Given the description of an element on the screen output the (x, y) to click on. 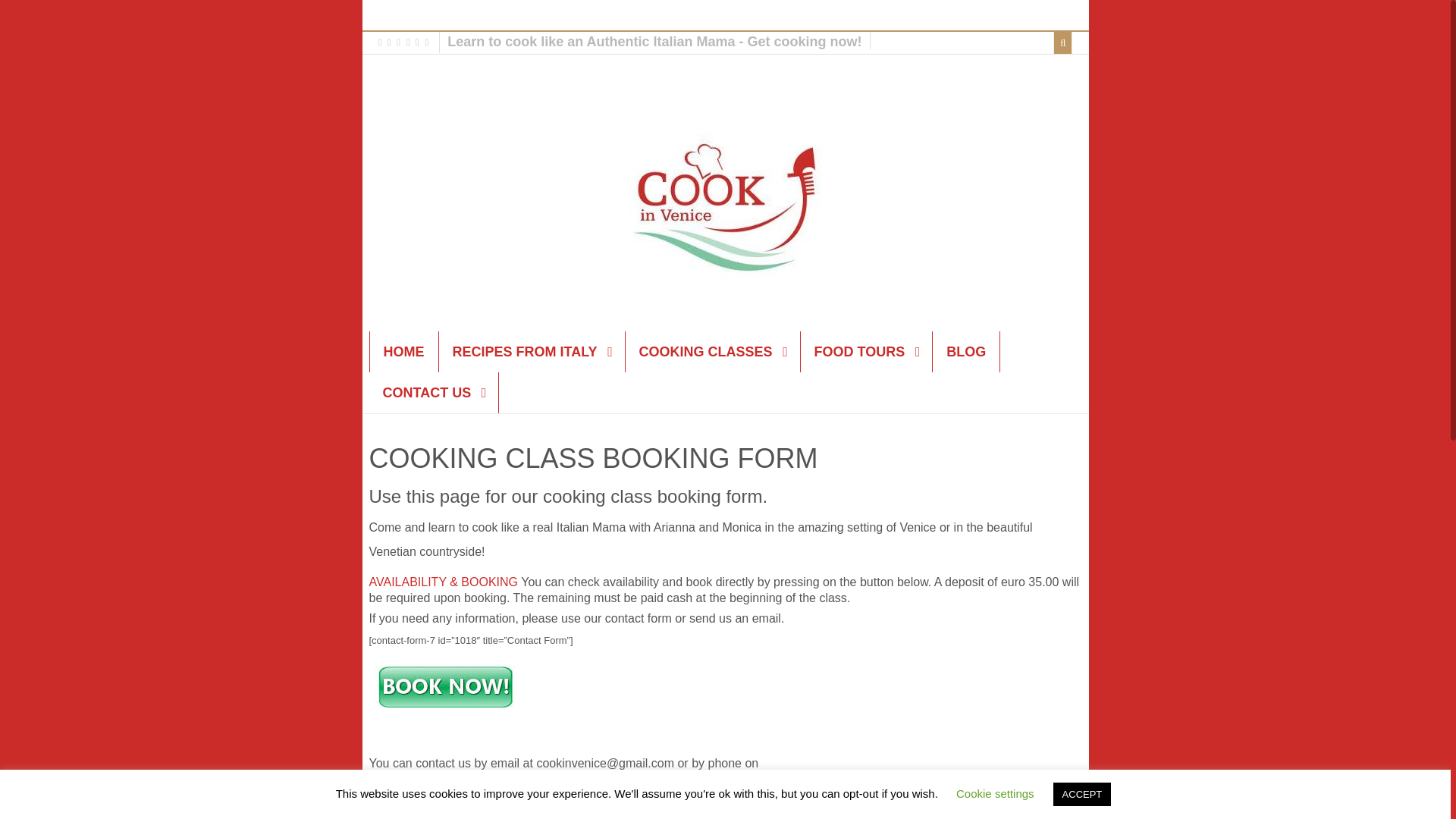
book (443, 581)
HOME (403, 351)
RECIPES FROM ITALY (531, 351)
